Given the description of an element on the screen output the (x, y) to click on. 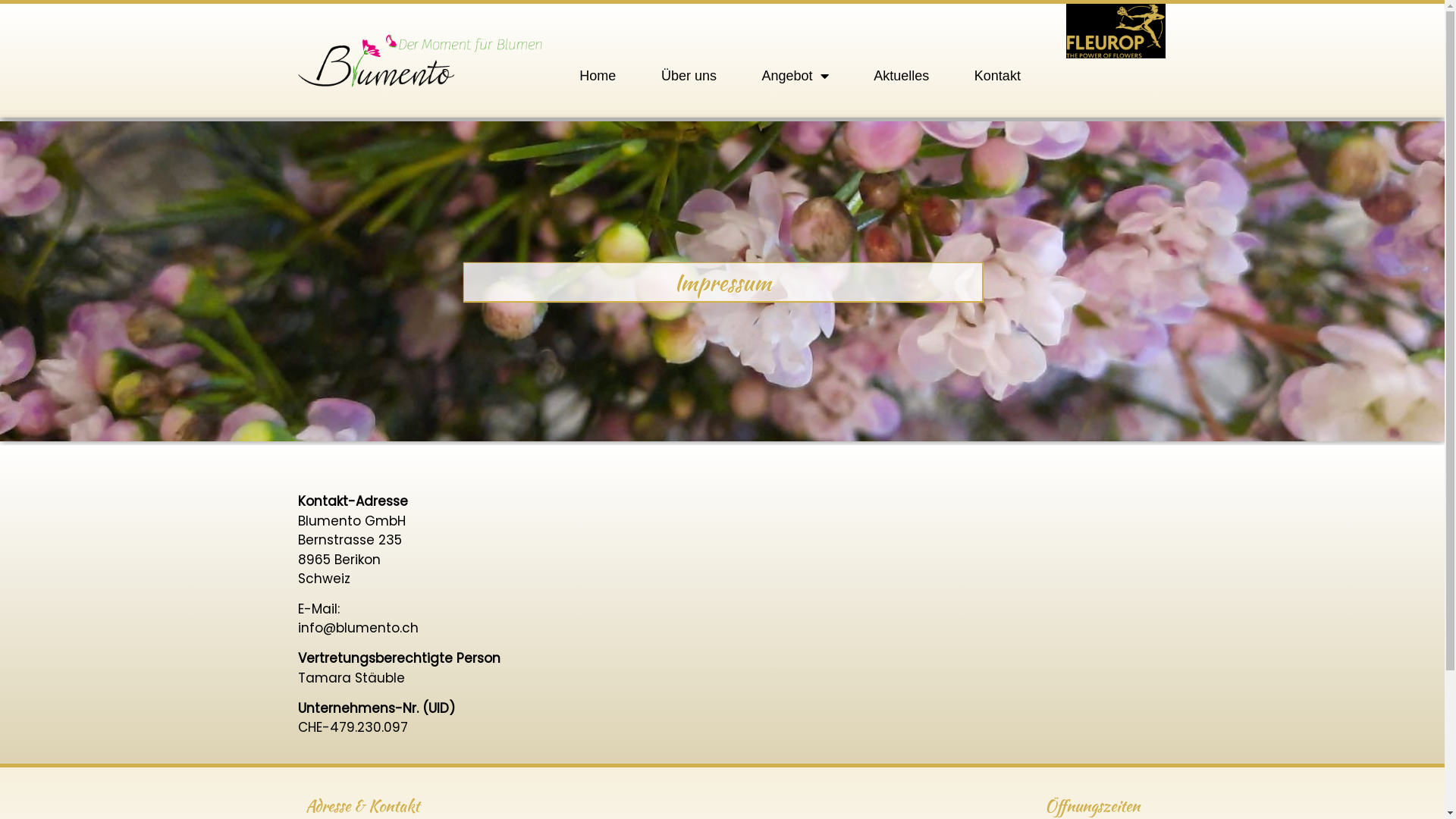
Aktuelles Element type: text (900, 75)
Kontakt Element type: text (997, 75)
Home Element type: text (597, 75)
Angebot Element type: text (795, 75)
